Given the description of an element on the screen output the (x, y) to click on. 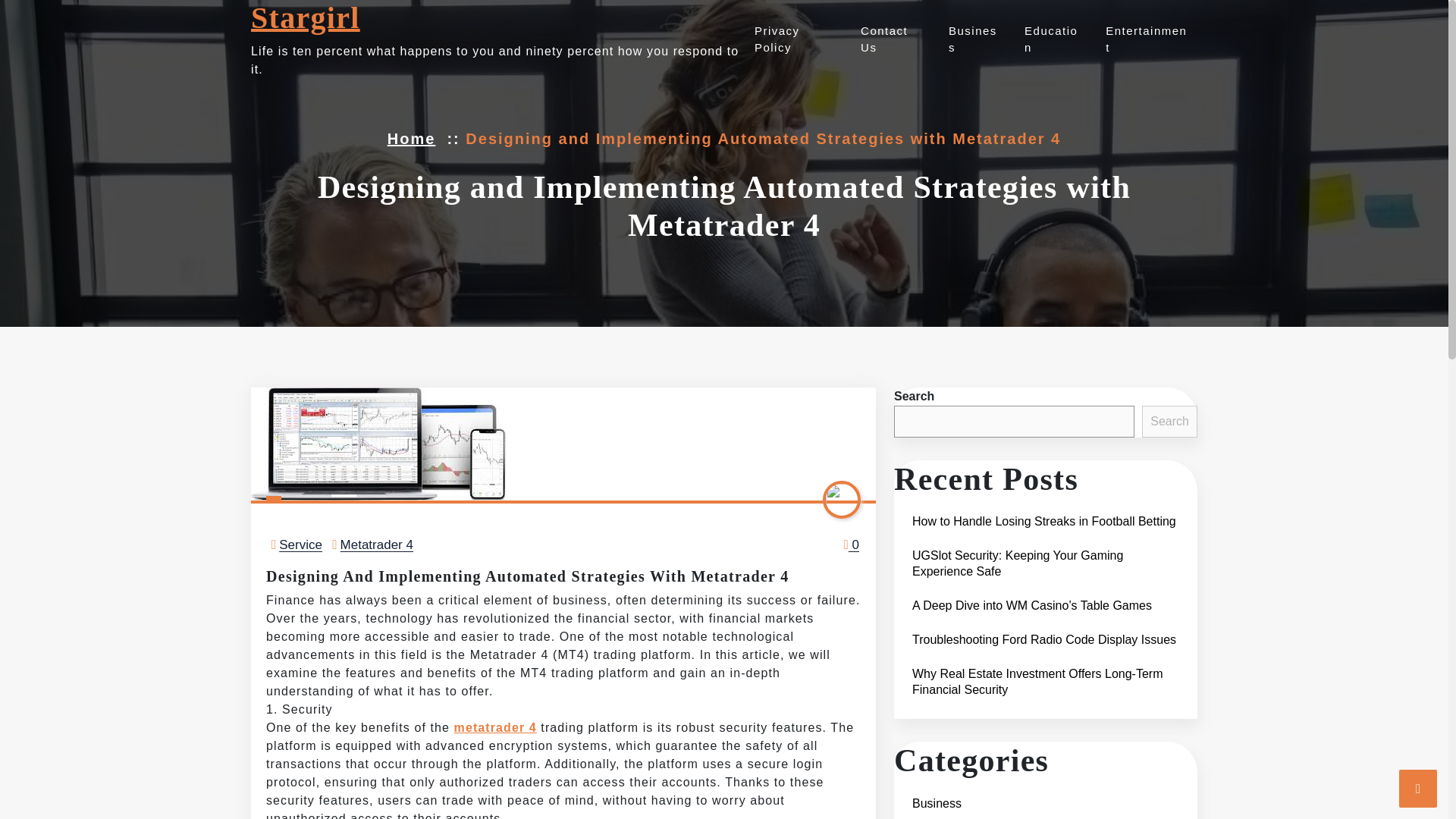
Business (972, 39)
Education (1050, 39)
Metatrader 4 (376, 544)
Education (1050, 39)
Troubleshooting Ford Radio Code Display Issues (1043, 639)
UGSlot Security: Keeping Your Gaming Experience Safe (1045, 563)
How to Handle Losing Streaks in Football Betting (1043, 520)
Home (411, 138)
metatrader 4 (495, 727)
